Given the description of an element on the screen output the (x, y) to click on. 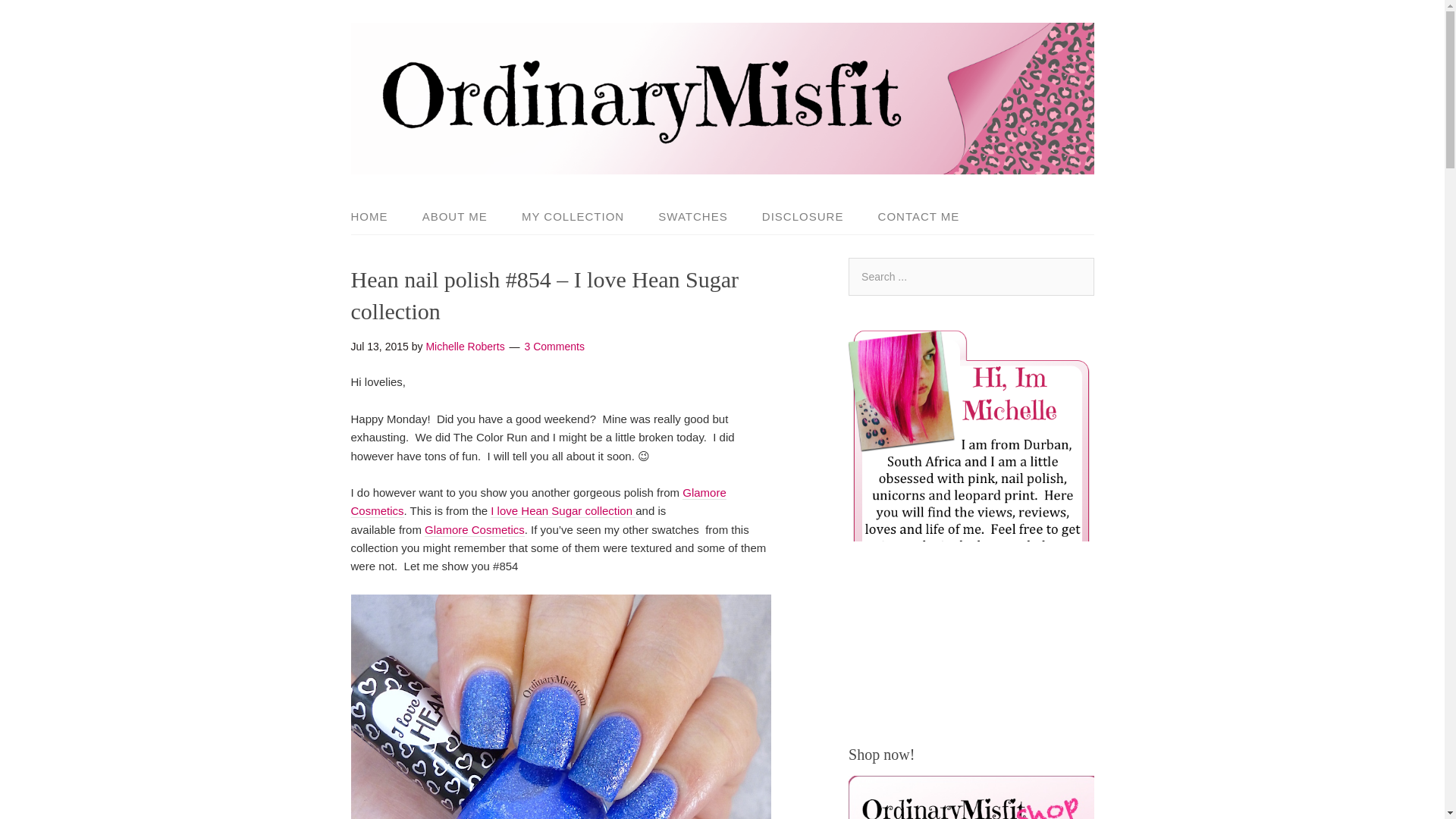
OrdinaryMisfit (721, 161)
ABOUT ME (454, 216)
Posts by Michelle Roberts (464, 346)
SWATCHES (692, 216)
Glamore cosmetics (474, 530)
MY COLLECTION (572, 216)
HOME (376, 216)
Glamore cosmetics (537, 501)
Mon, Jul 13, 2015, 9:52 am (378, 346)
